Given the description of an element on the screen output the (x, y) to click on. 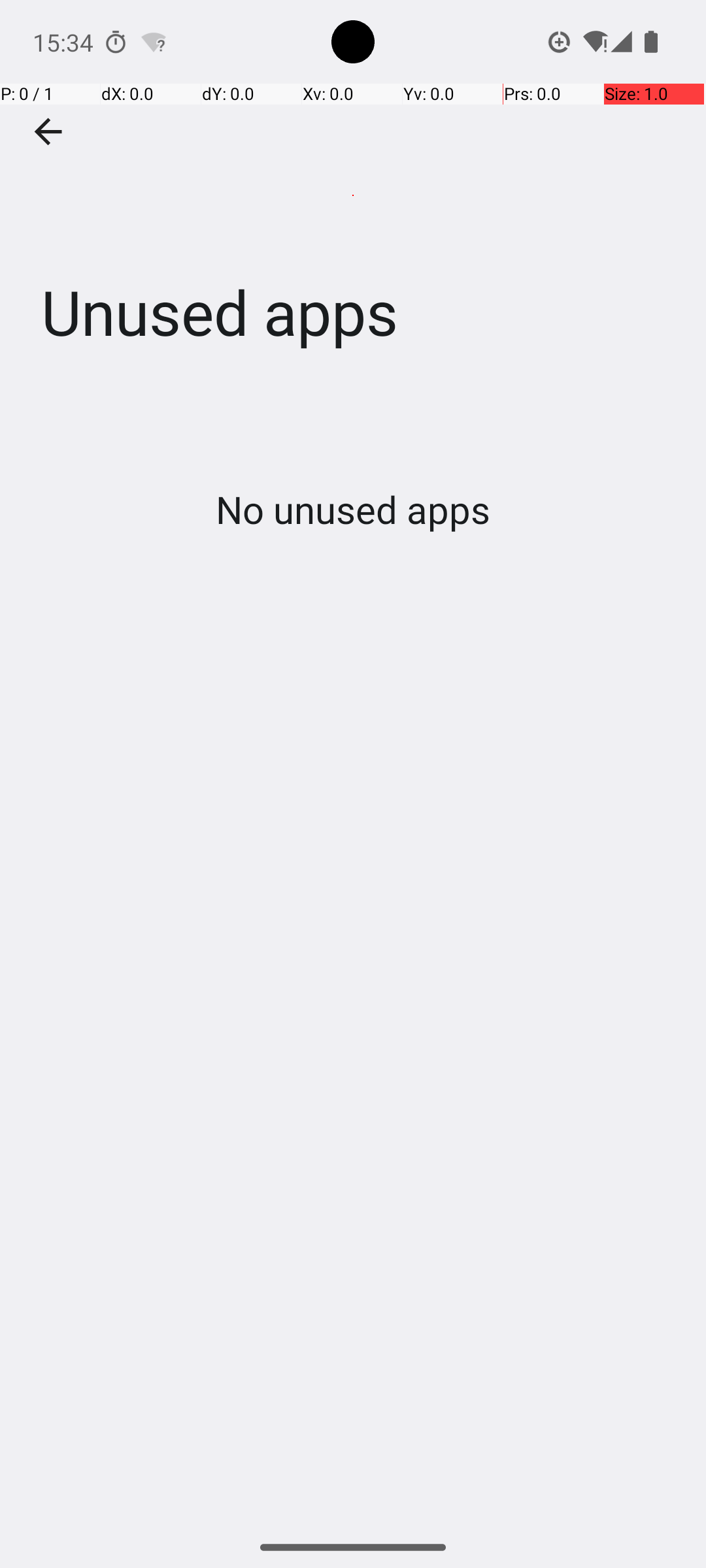
No unused apps Element type: android.widget.TextView (353, 508)
